Given the description of an element on the screen output the (x, y) to click on. 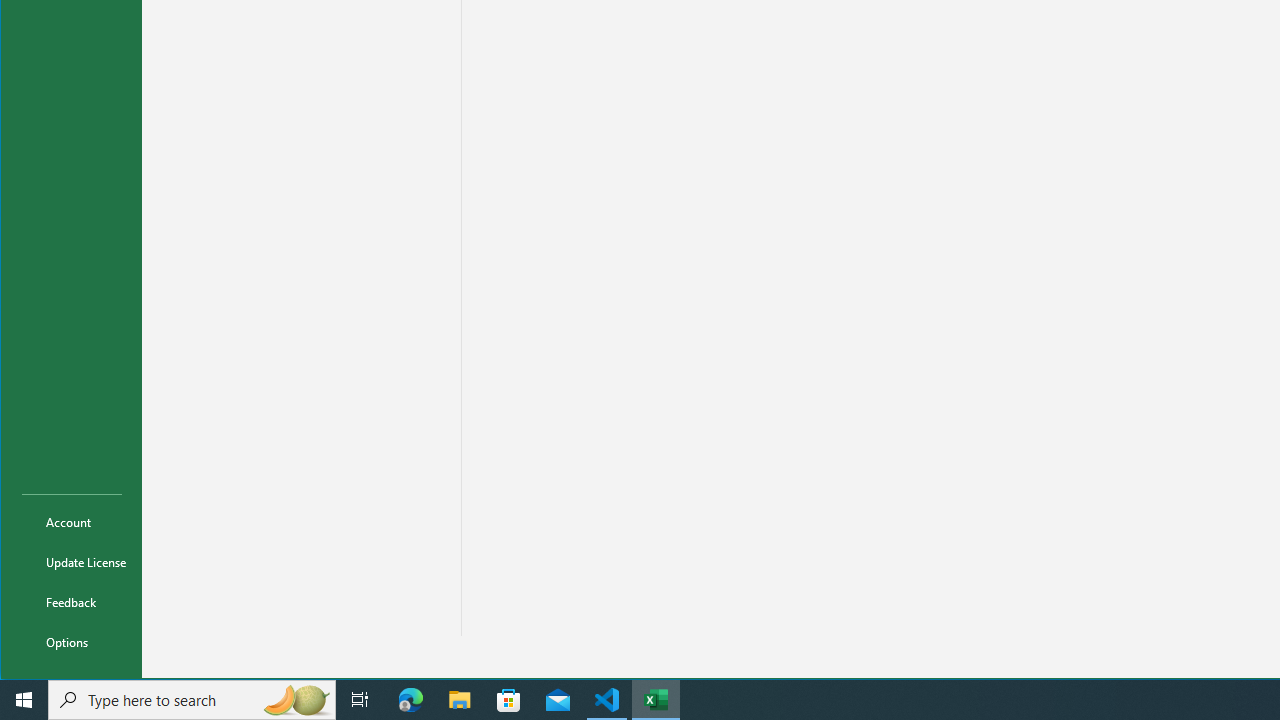
Start (24, 699)
Excel - 1 running window (656, 699)
Type here to search (191, 699)
Search highlights icon opens search home window (295, 699)
Microsoft Store (509, 699)
Account (72, 521)
Task View (359, 699)
File Explorer (460, 699)
Options (72, 641)
Update License (72, 561)
Feedback (72, 601)
Microsoft Edge (411, 699)
Visual Studio Code - 1 running window (607, 699)
